Given the description of an element on the screen output the (x, y) to click on. 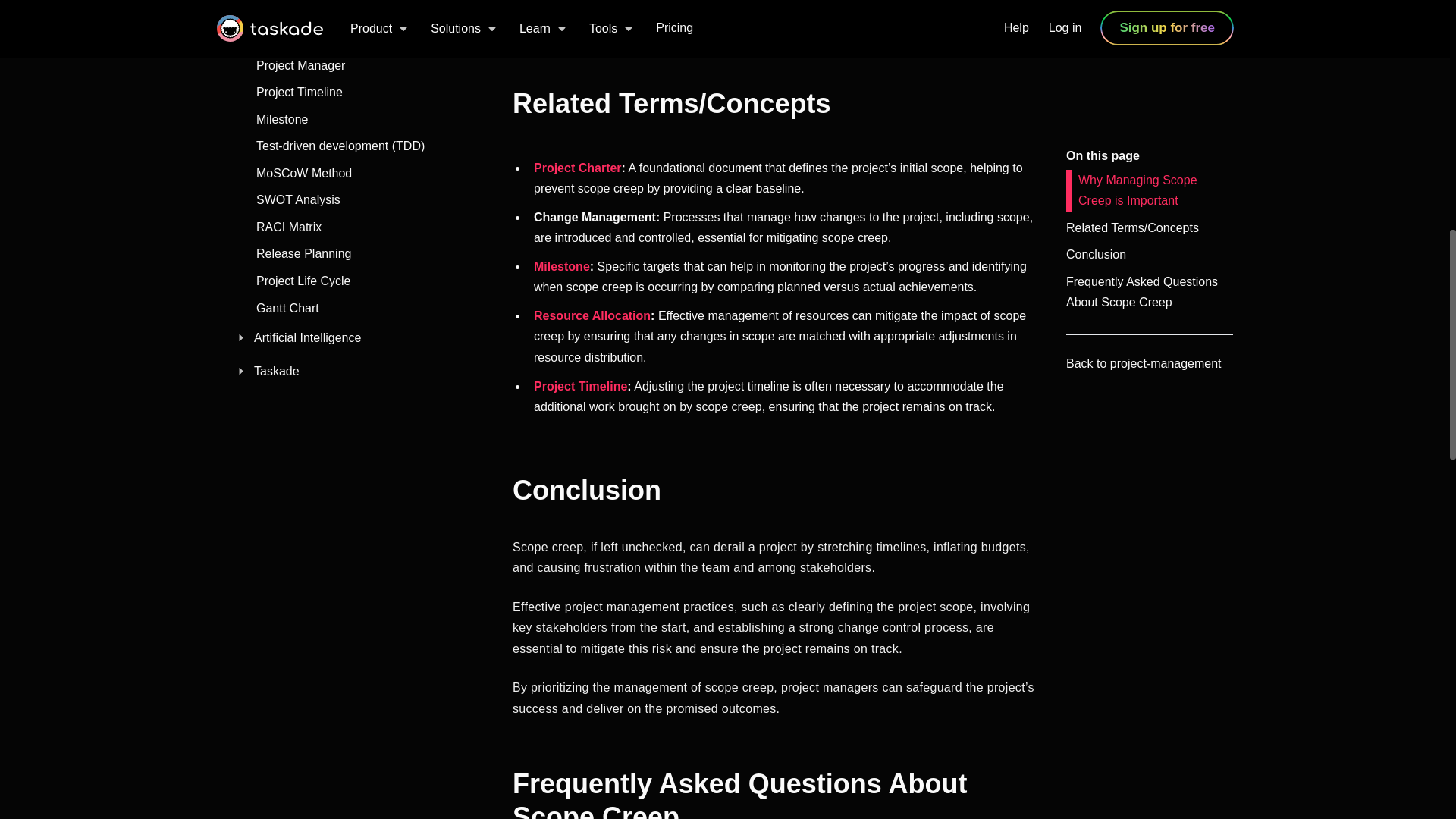
Project Timeline (360, 92)
Resource Allocation (360, 38)
Dependencies (360, 12)
Project Manager (360, 65)
